Given the description of an element on the screen output the (x, y) to click on. 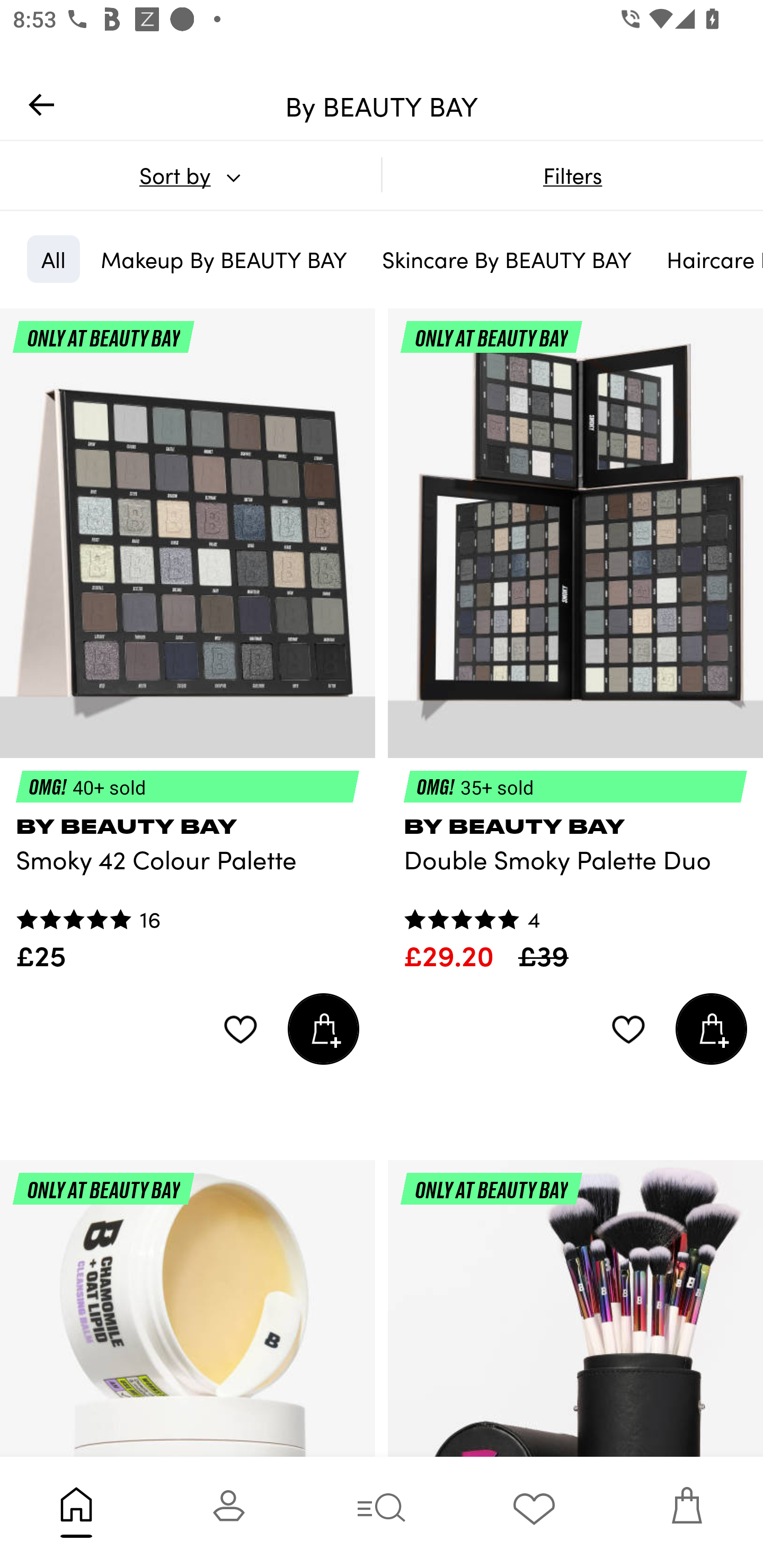
Sort by (190, 174)
Filters (572, 174)
All (53, 258)
Makeup By BEAUTY BAY (223, 258)
Skincare By BEAUTY BAY (506, 258)
Haircare By BEAUTY BAY (707, 258)
